Given the description of an element on the screen output the (x, y) to click on. 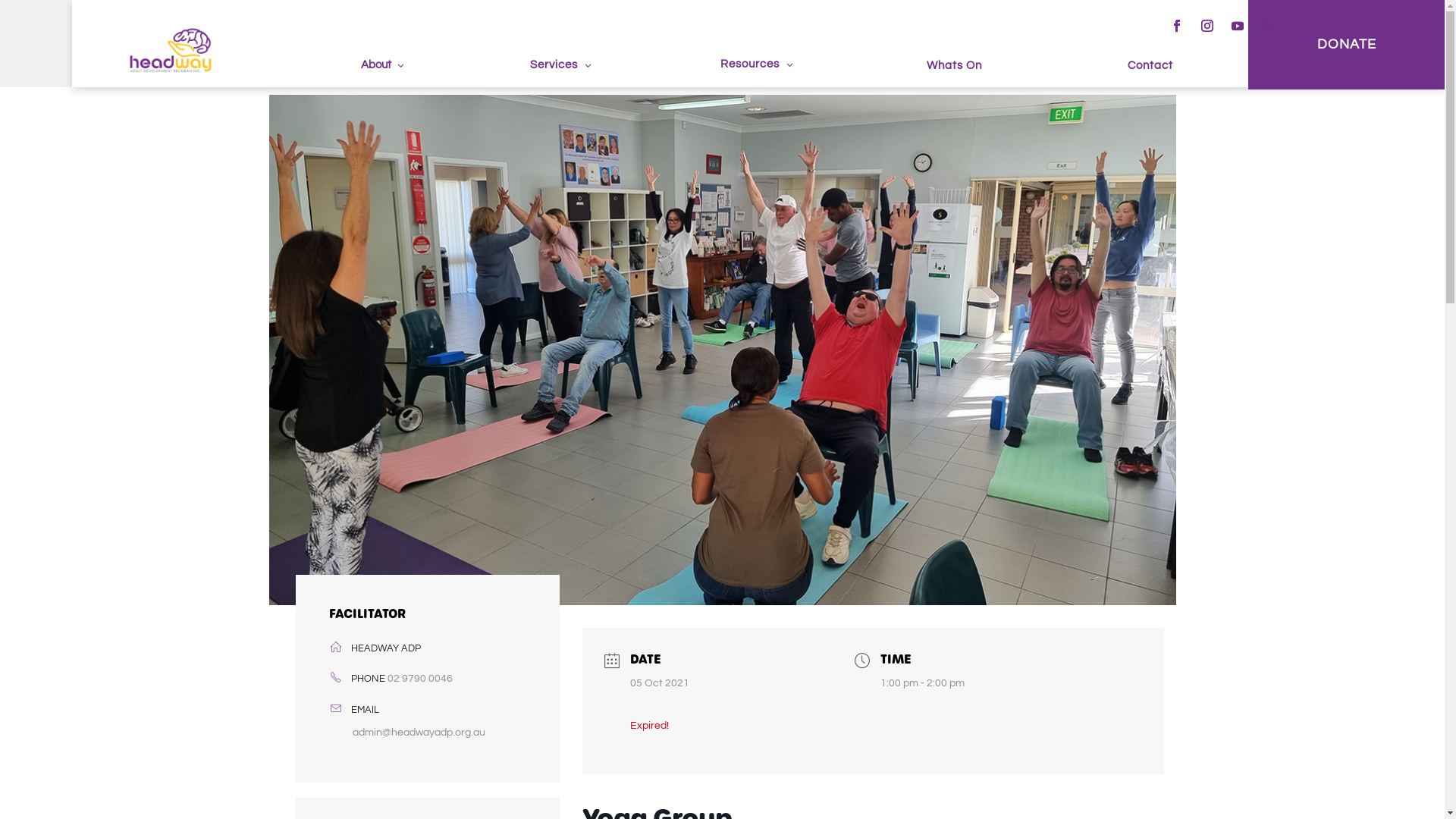
02 9790 0046 Element type: text (418, 678)
Follow on Youtube Element type: hover (1237, 25)
3
Resources Element type: text (757, 67)
3
About Element type: text (365, 68)
Whats On Element type: text (954, 68)
Contact Element type: text (1149, 68)
Follow on Facebook Element type: hover (1176, 25)
admin@headwayadp.org.au Element type: text (427, 732)
Follow on LinkedIn Element type: hover (1267, 25)
DONATE Element type: text (1346, 44)
Follow on Instagram Element type: hover (1207, 25)
3
Services Element type: text (562, 68)
